Given the description of an element on the screen output the (x, y) to click on. 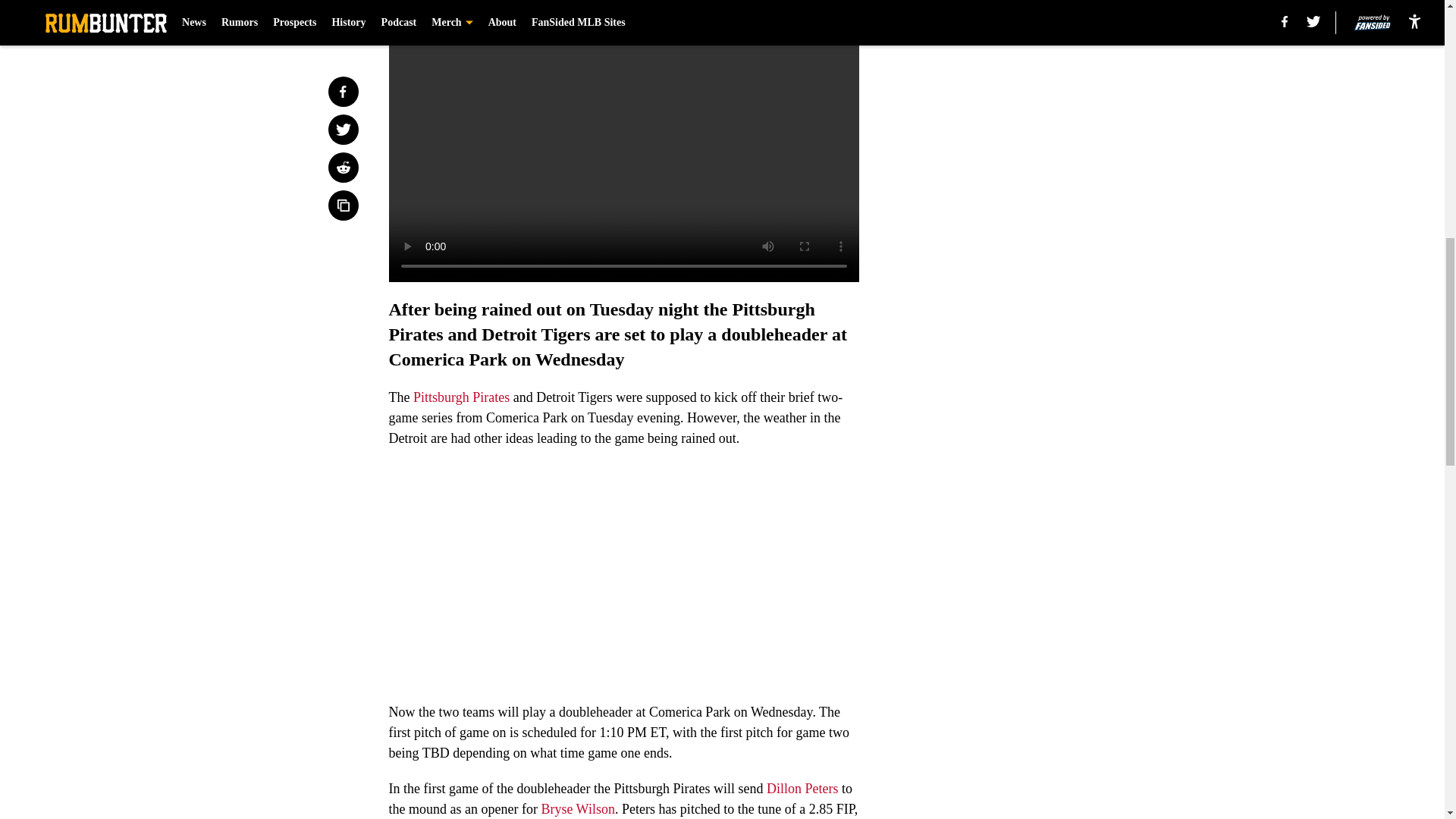
Dillon Peters (802, 788)
Bryse Wilson (577, 808)
3rd party ad content (1047, 332)
3rd party ad content (1047, 113)
Pittsburgh Pirates (461, 396)
